Given the description of an element on the screen output the (x, y) to click on. 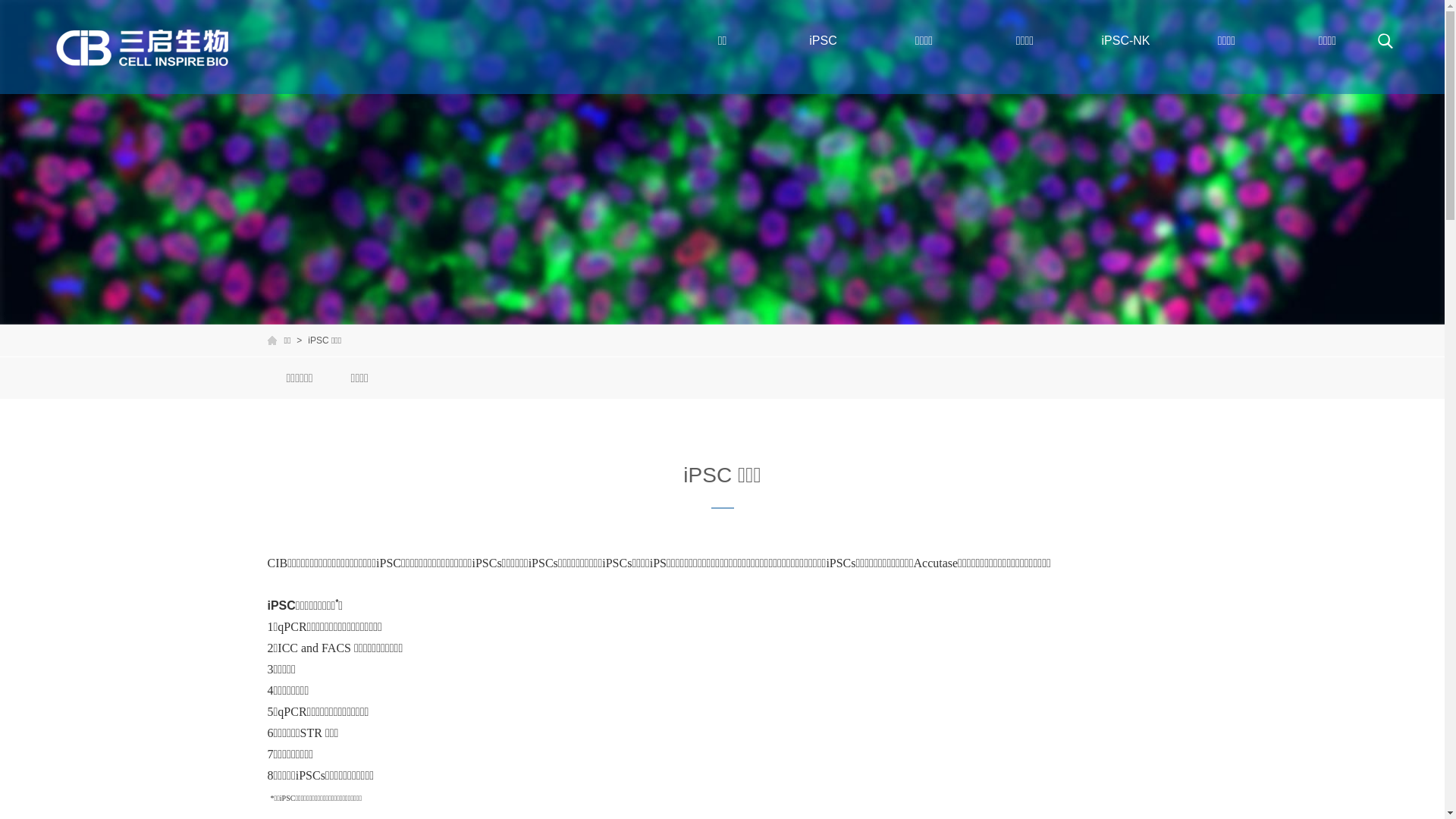
iPSC-NK Element type: text (1125, 40)
iPSC Element type: text (822, 40)
